Given the description of an element on the screen output the (x, y) to click on. 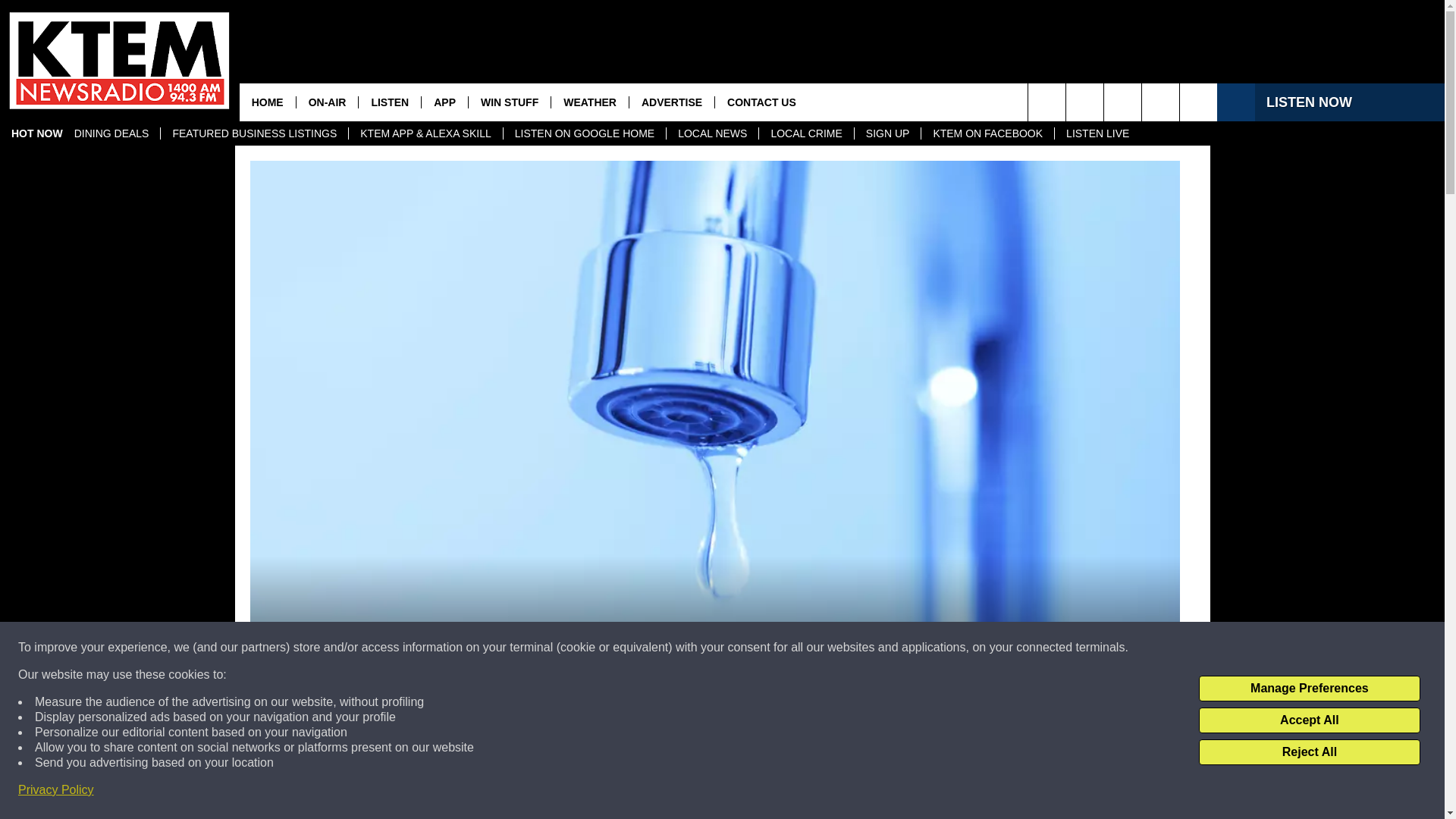
Privacy Policy (55, 789)
LOCAL CRIME (805, 133)
WIN STUFF (508, 102)
SIGN UP (887, 133)
Share on Twitter (912, 791)
CONTACT US (761, 102)
Manage Preferences (1309, 688)
LISTEN ON GOOGLE HOME (583, 133)
HOME (267, 102)
LISTEN LIVE (1097, 133)
LISTEN (389, 102)
Reject All (1309, 751)
Share on Facebook (517, 791)
Accept All (1309, 720)
ADVERTISE (671, 102)
